Given the description of an element on the screen output the (x, y) to click on. 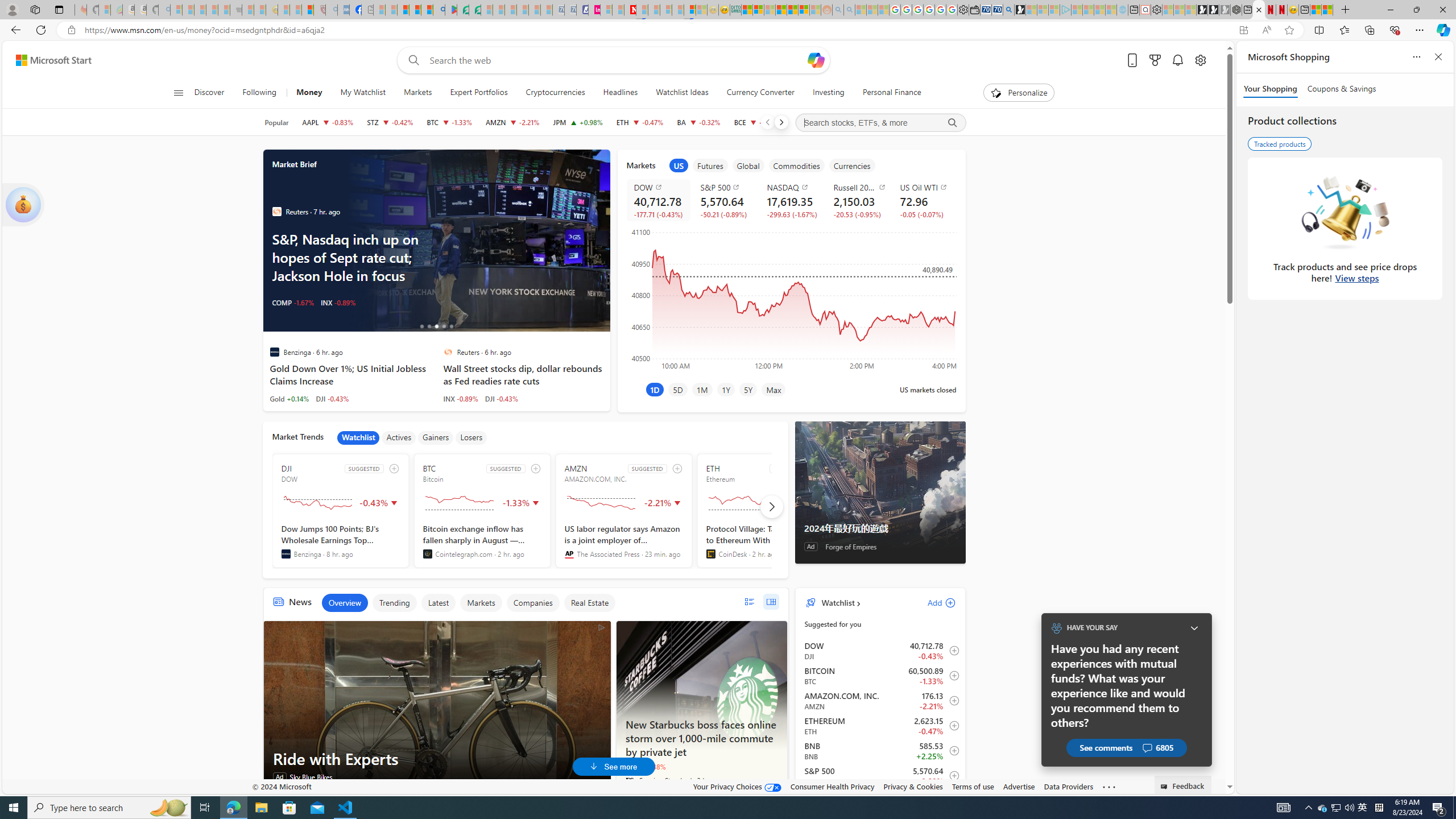
The Weather Channel - MSN - Sleeping (200, 9)
STZ CONSTELLATION BRANDS, INC. decrease 243.70 -1.04 -0.42% (389, 122)
Your Privacy Choices (737, 786)
Trending (393, 602)
